Given the description of an element on the screen output the (x, y) to click on. 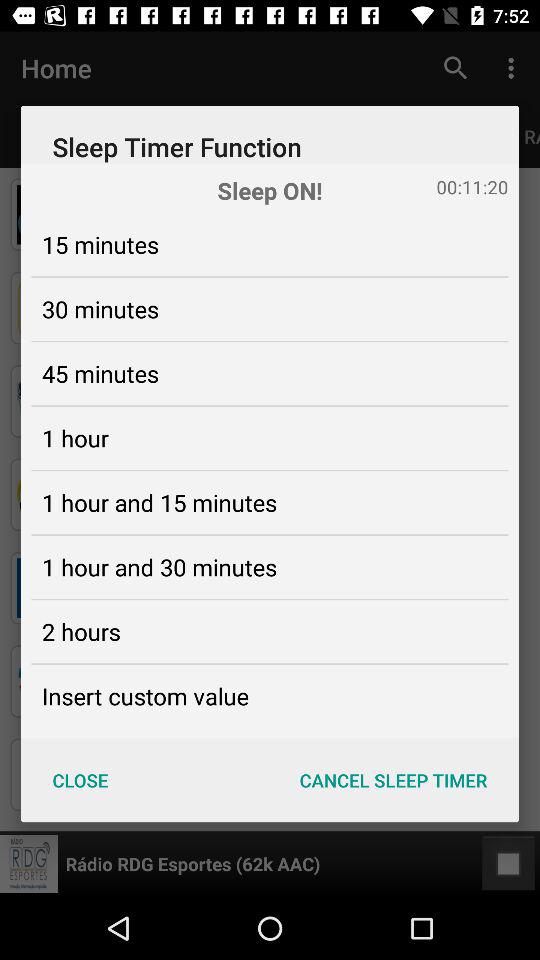
flip to 45 minutes icon (100, 373)
